Given the description of an element on the screen output the (x, y) to click on. 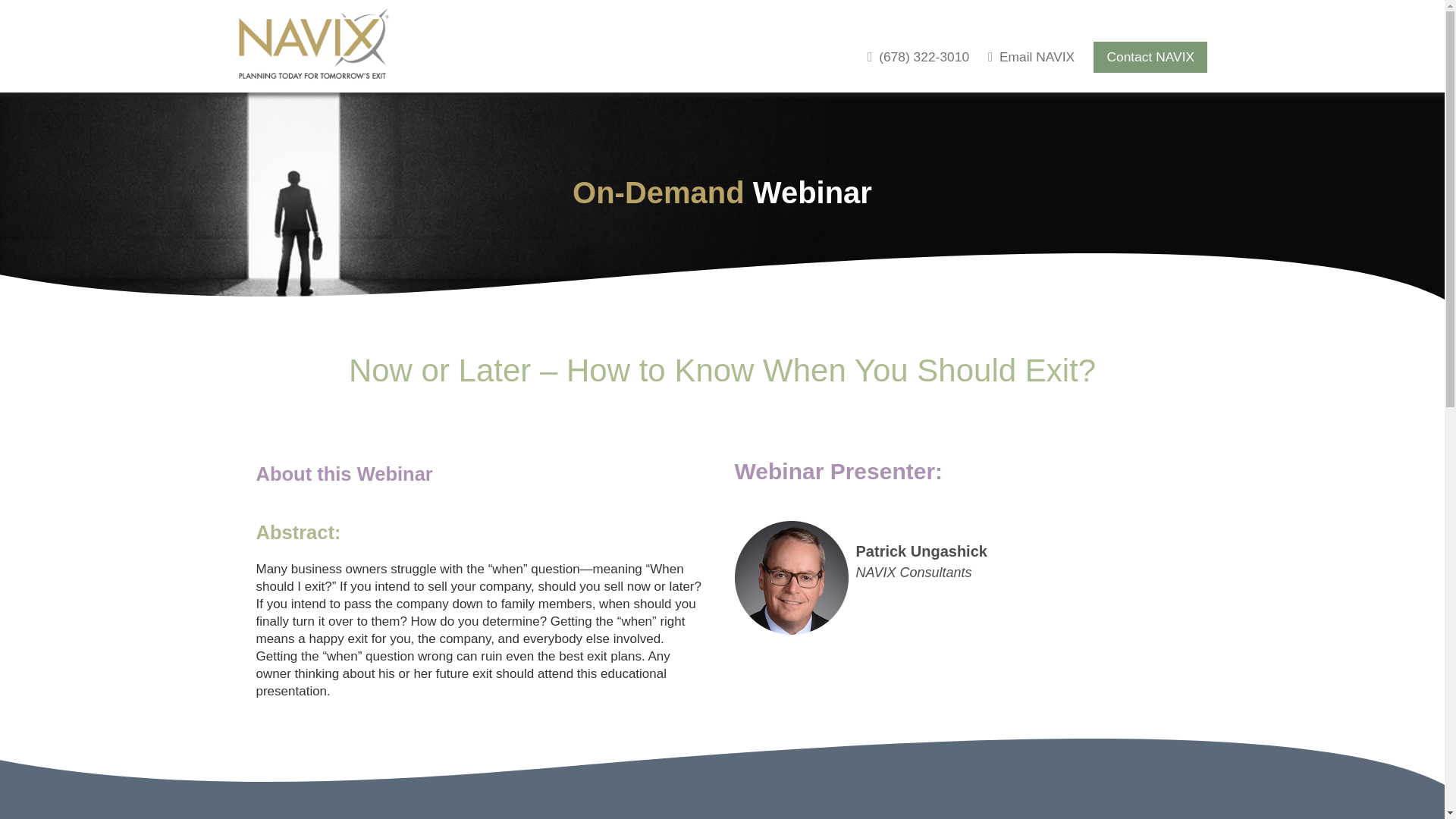
Contact NAVIX (1150, 56)
NAVIX Consultants (312, 44)
Email NAVIX (1036, 56)
